Given the description of an element on the screen output the (x, y) to click on. 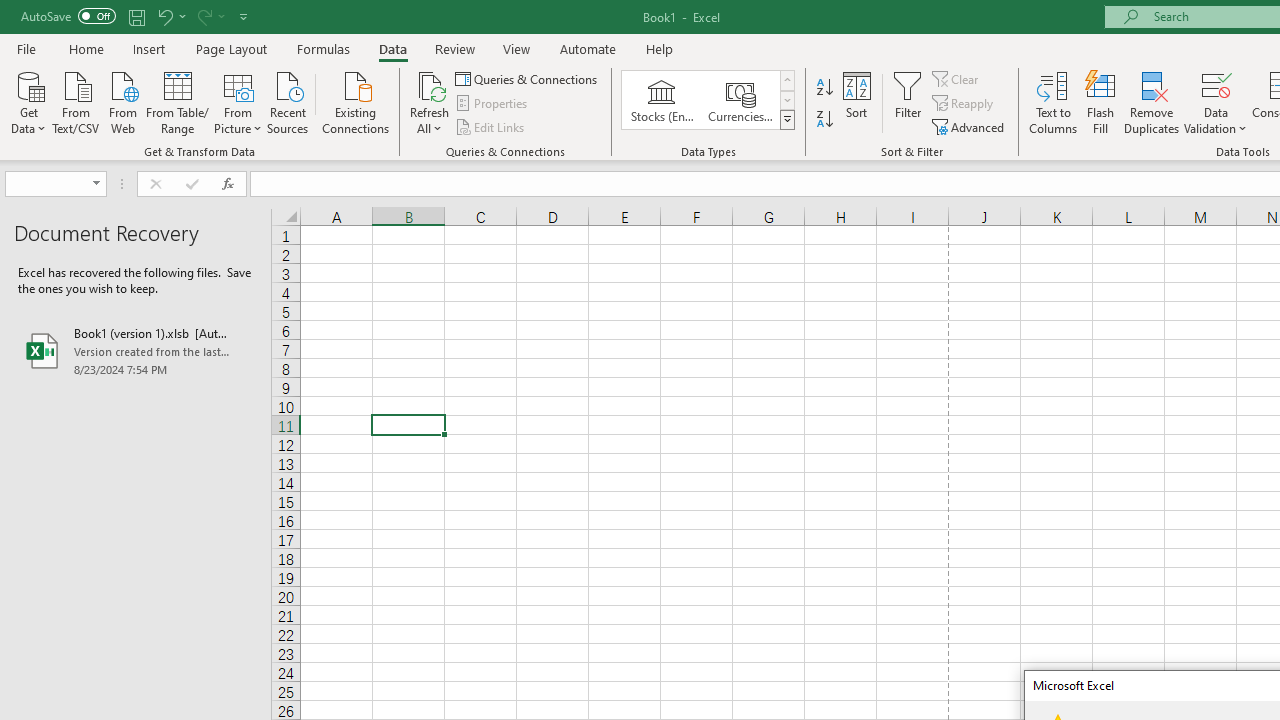
From Picture (238, 101)
Queries & Connections (527, 78)
